Given the description of an element on the screen output the (x, y) to click on. 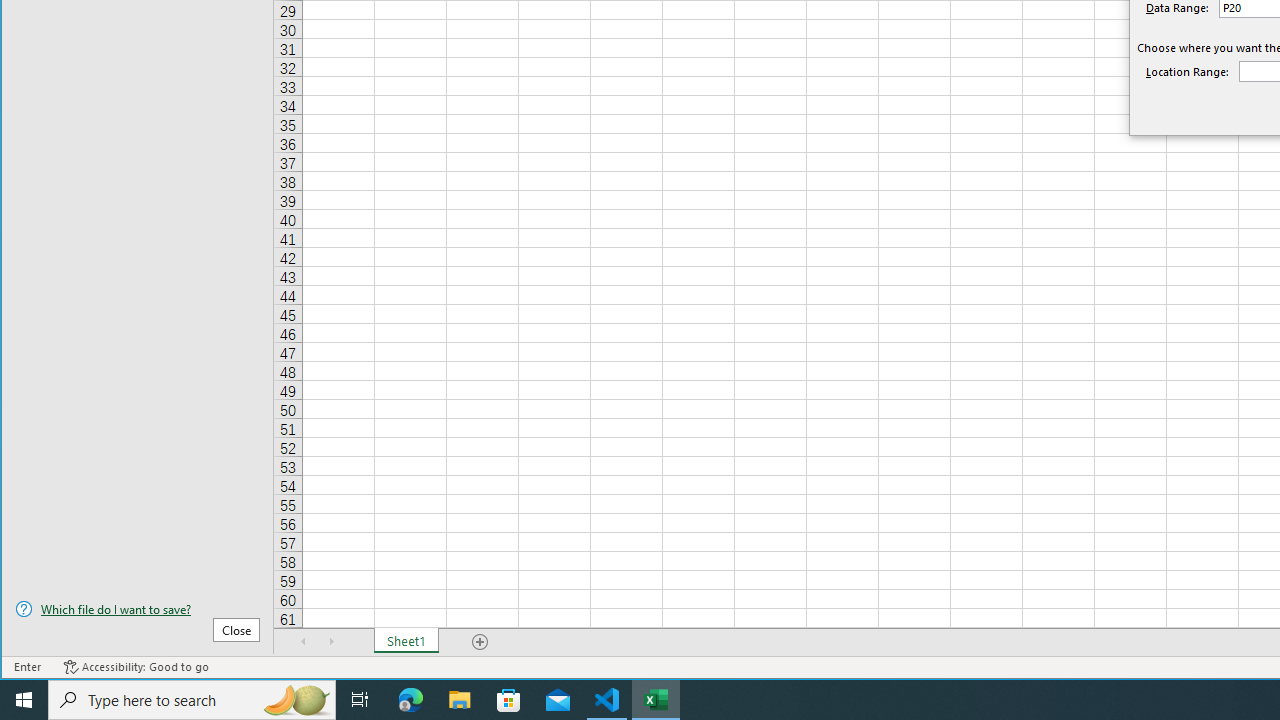
Which file do I want to save? (137, 609)
